Given the description of an element on the screen output the (x, y) to click on. 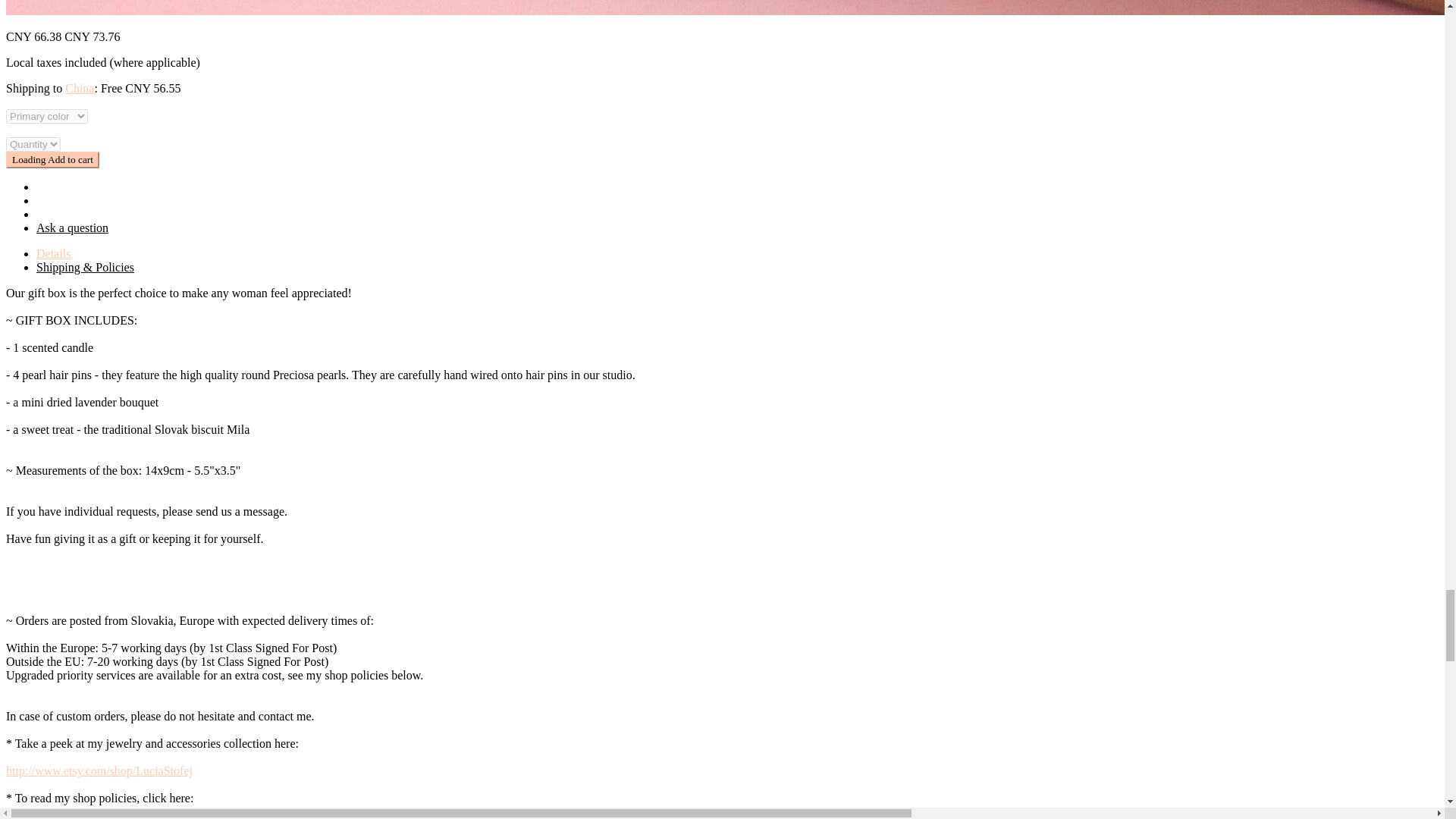
Details (52, 253)
Loading Add to cart (52, 159)
China (79, 88)
Ask a question (71, 227)
